Given the description of an element on the screen output the (x, y) to click on. 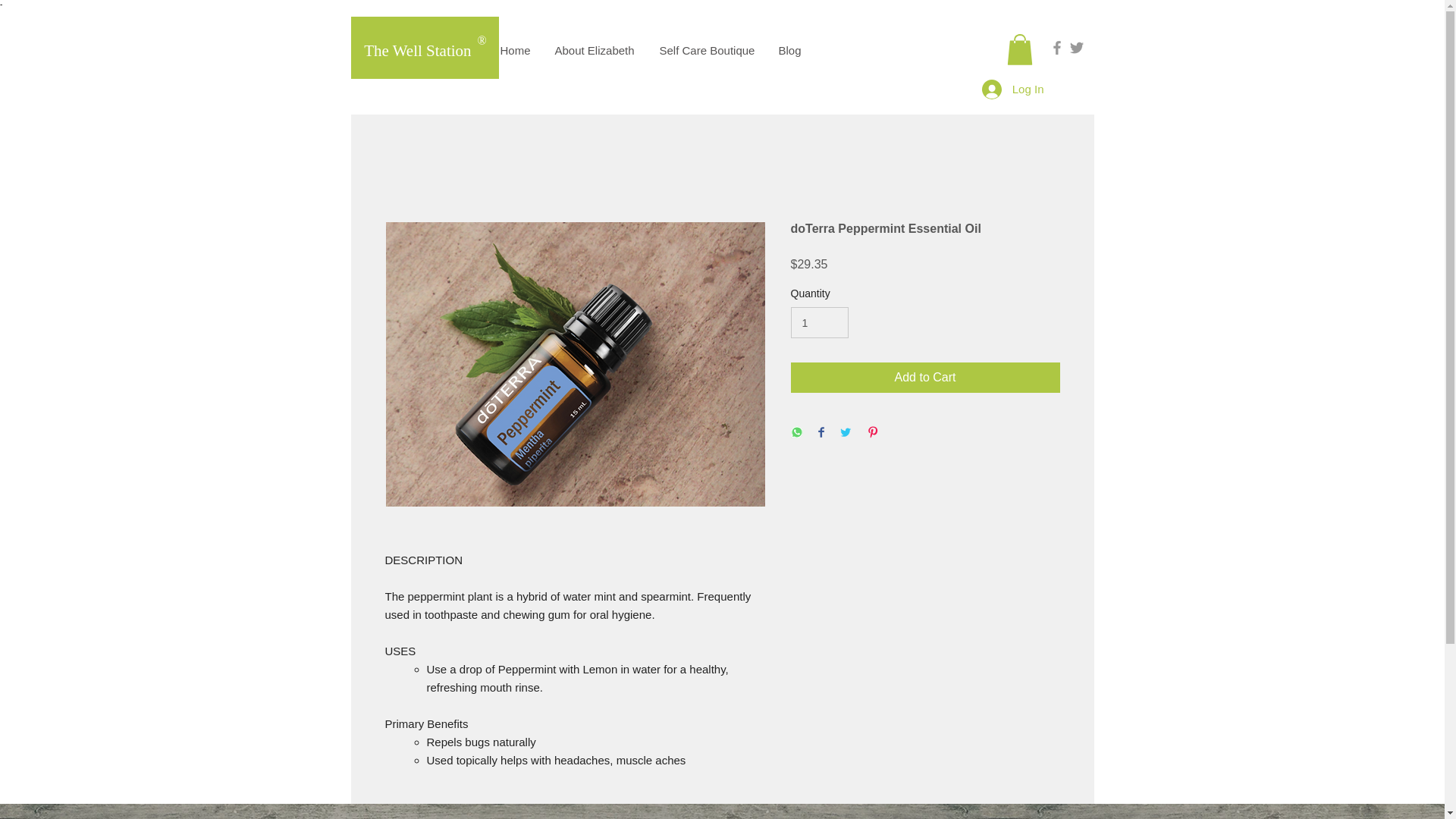
Log In (1012, 89)
1 (818, 322)
Blog (790, 50)
Add to Cart (924, 377)
Home (515, 50)
Self Care Boutique (707, 50)
About Elizabeth (595, 50)
